Given the description of an element on the screen output the (x, y) to click on. 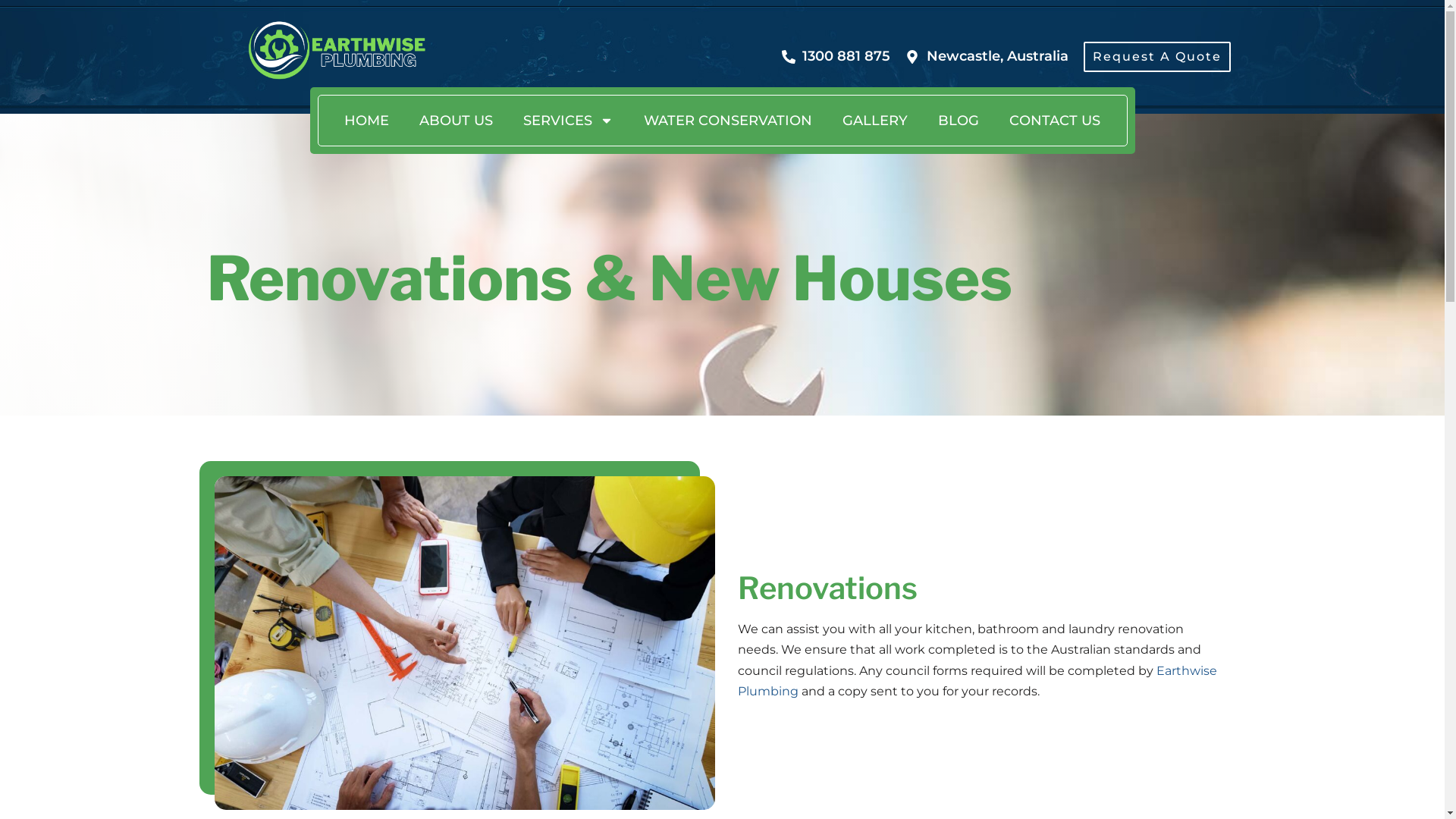
1300 881 875 Element type: text (835, 56)
SERVICES Element type: text (568, 120)
ABOUT US Element type: text (456, 120)
 Earthwise Plumbing  Element type: text (976, 680)
Request A Quote Element type: text (1156, 56)
GALLERY Element type: text (874, 120)
WATER CONSERVATION Element type: text (727, 120)
HOME Element type: text (366, 120)
Newcastle, Australia Element type: text (986, 56)
BLOG Element type: text (958, 120)
CONTACT US Element type: text (1054, 120)
